Given the description of an element on the screen output the (x, y) to click on. 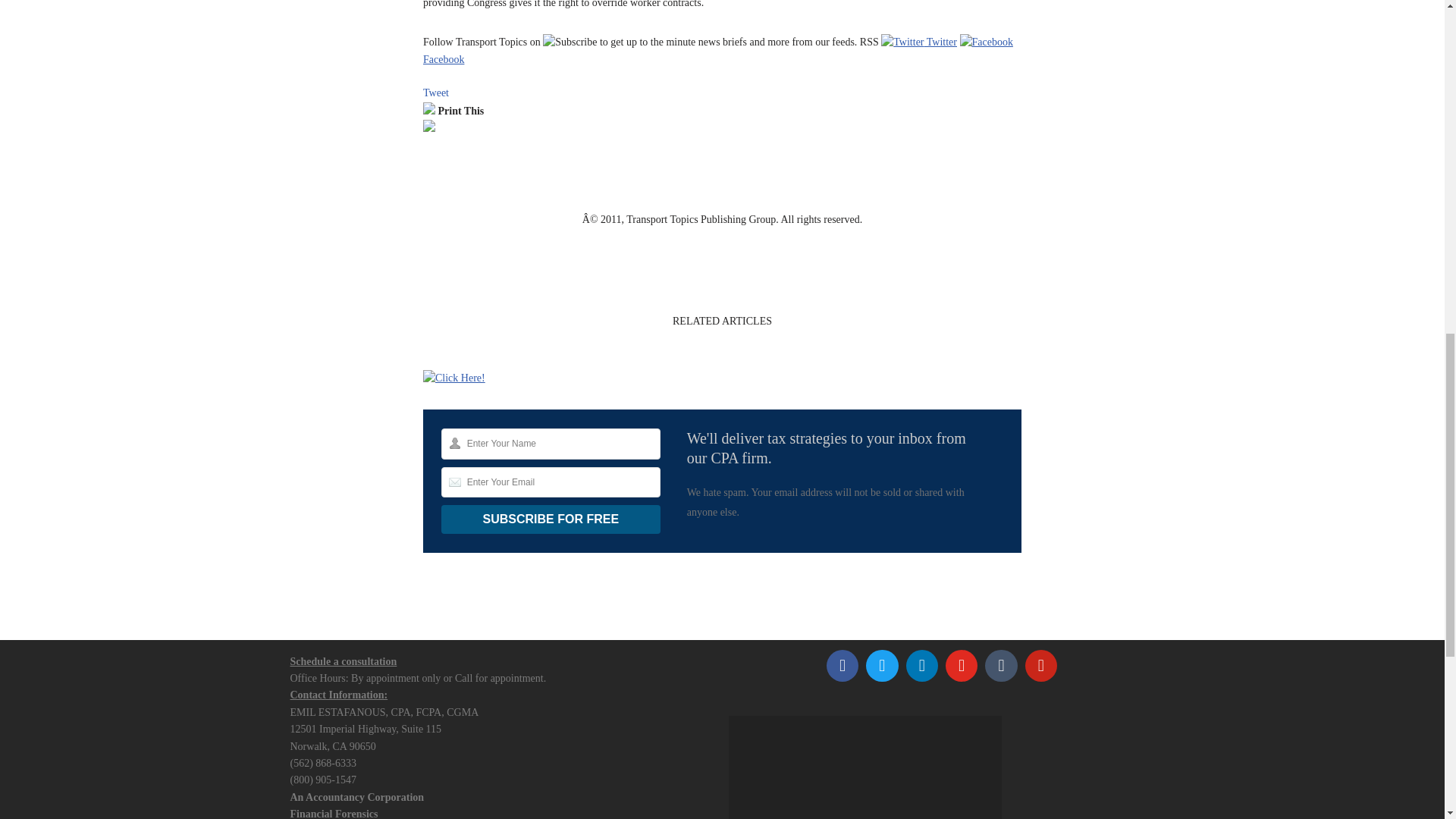
Facebook (841, 665)
Default Label (1041, 665)
SUBSCRIBE FOR FREE (551, 519)
Default Label (922, 665)
X (881, 665)
Default Label (1000, 665)
Instagram (961, 665)
